Given the description of an element on the screen output the (x, y) to click on. 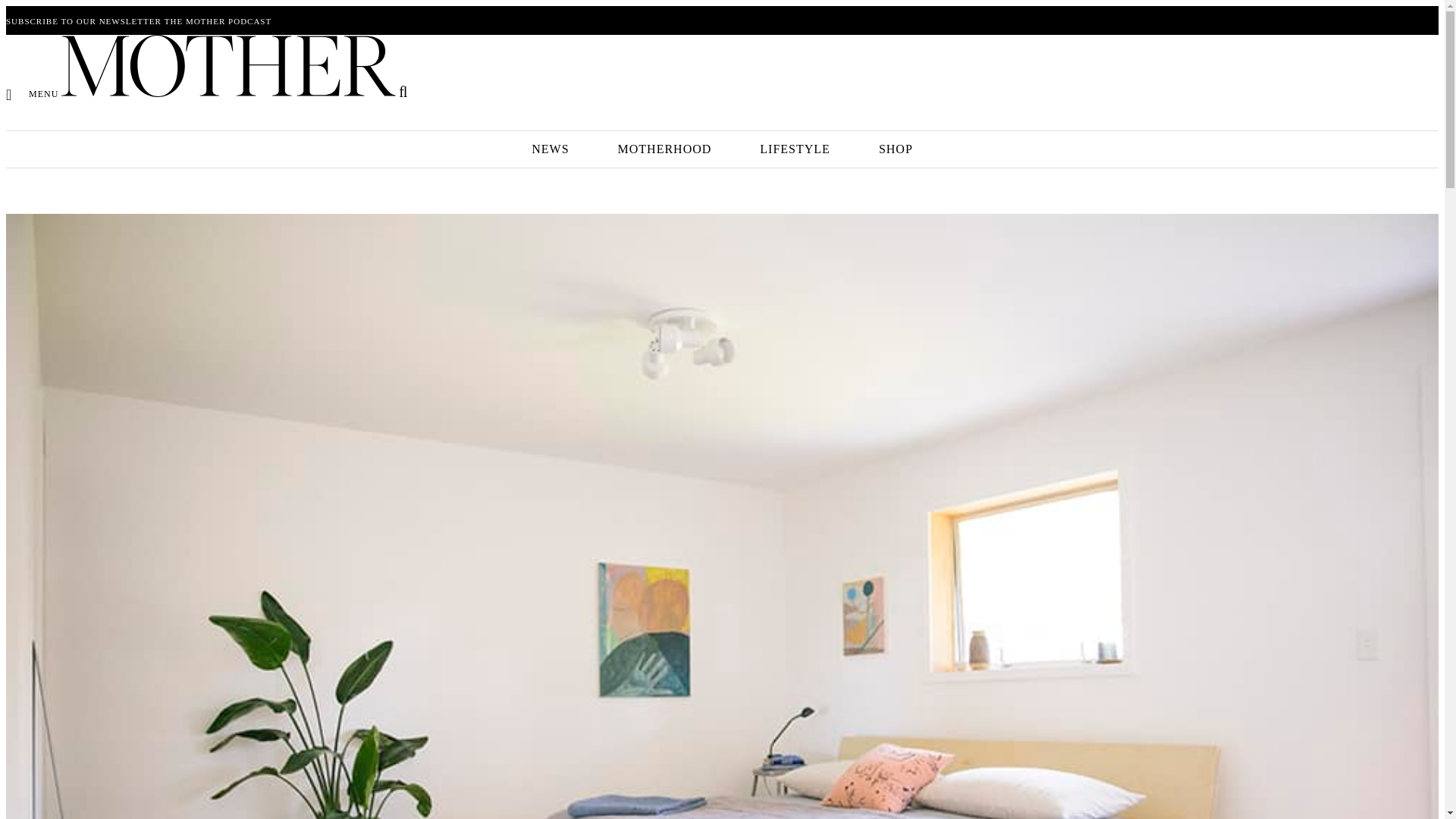
THE MOTHER PODCAST (217, 20)
NEWS (550, 148)
MENU (31, 92)
LIFESTYLE (794, 148)
SHOP (895, 148)
SUBSCRIBE TO OUR NEWSLETTER (83, 20)
MOTHERHOOD (664, 148)
